Given the description of an element on the screen output the (x, y) to click on. 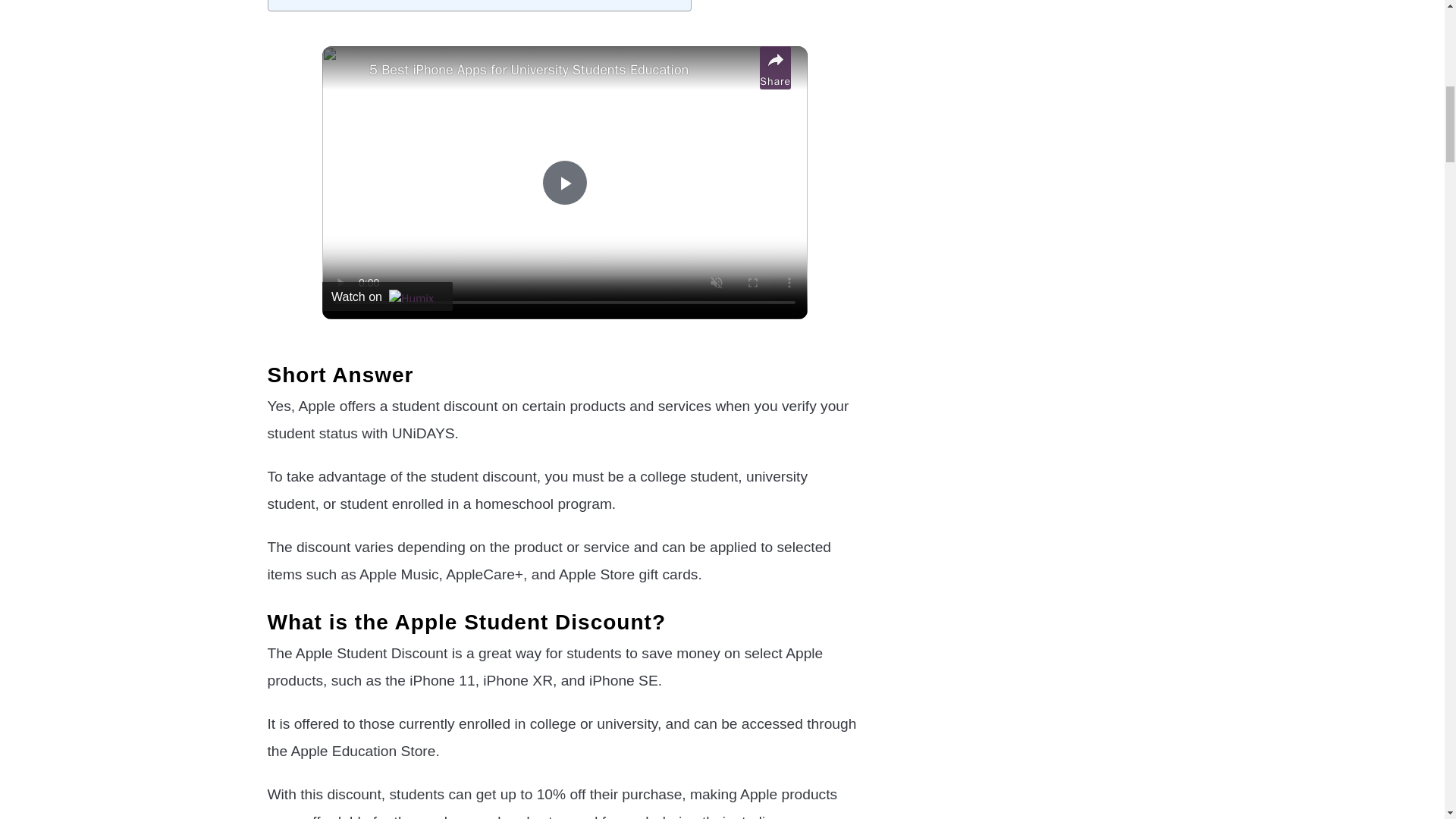
5 Best iPhone Apps for University Students Education (560, 69)
Play Video (564, 182)
Watch on (386, 296)
Final Thoughts (321, 1)
Play Video (564, 182)
Final Thoughts (321, 1)
